Given the description of an element on the screen output the (x, y) to click on. 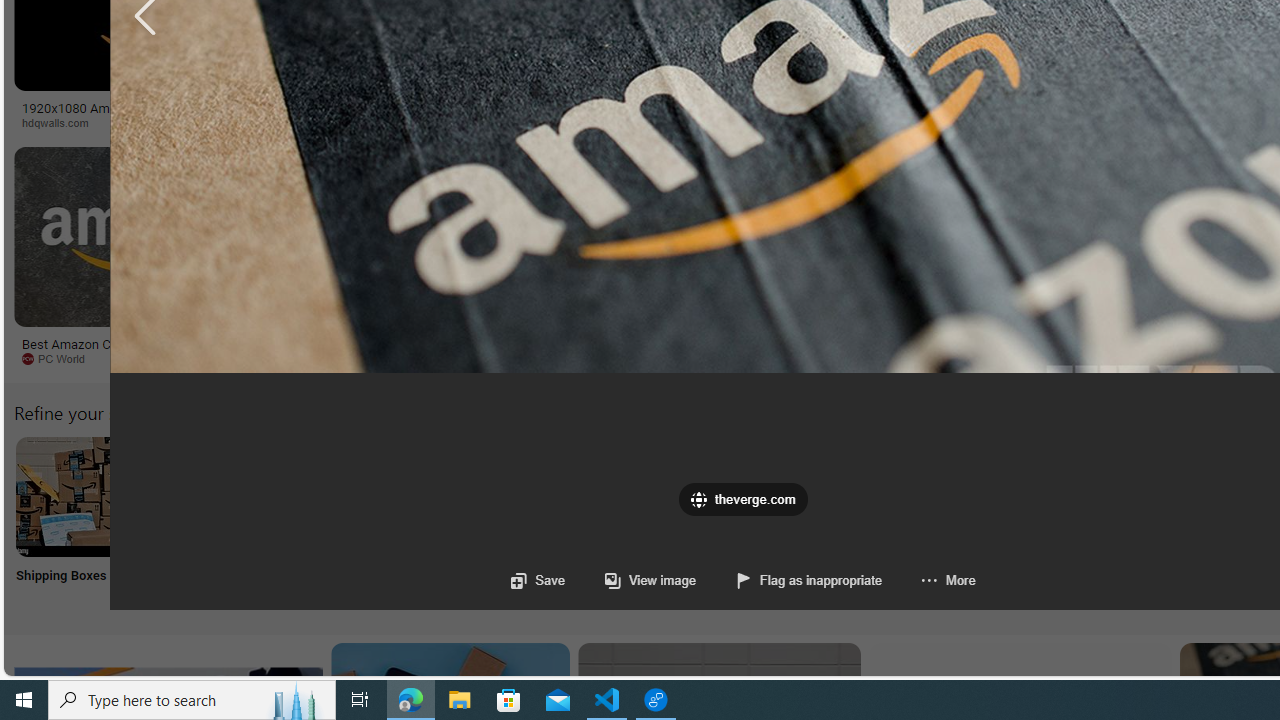
GOBankingRates (396, 121)
hdqwalls.com (61, 121)
Amazon Clip Art Clip Art (339, 521)
Save (537, 580)
Flag as inappropriate (789, 580)
Amazon Wish List Wish List (999, 521)
Amazon Log into My Account (472, 496)
Amazon Shipping Boxes (75, 496)
Marketplace (807, 123)
aiophotoz.com (611, 358)
Image result for amazon (936, 236)
Amazon Jobs Near Me (604, 496)
